Given the description of an element on the screen output the (x, y) to click on. 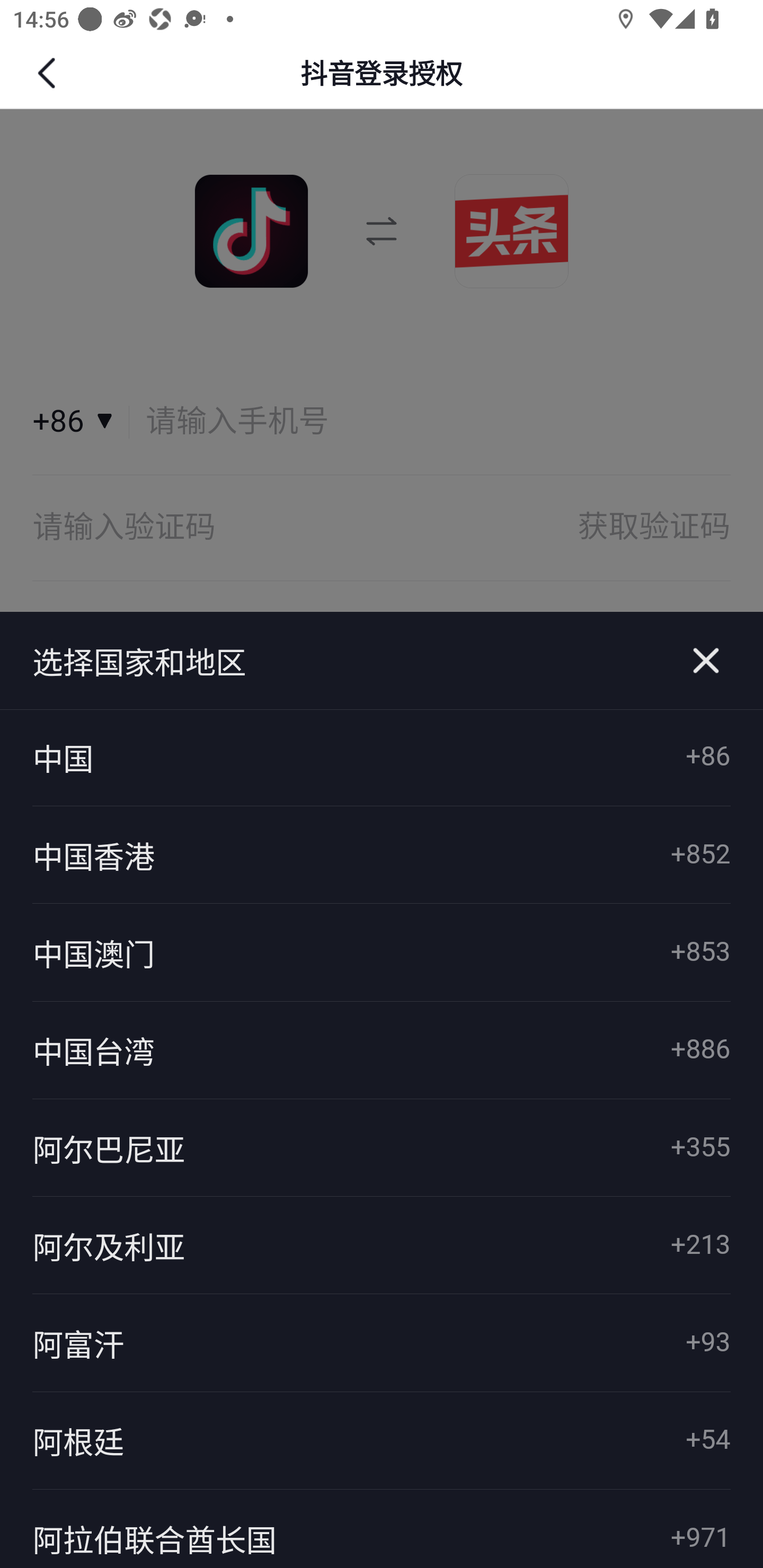
返回 (49, 72)
关闭 (705, 660)
中国+86 (381, 757)
中国香港+852 (381, 854)
中国澳门+853 (381, 952)
中国台湾+886 (381, 1049)
阿尔巴尼亚+355 (381, 1147)
阿尔及利亚+213 (381, 1245)
阿富汗+93 (381, 1343)
阿根廷+54 (381, 1440)
阿拉伯联合酋长国+971 (381, 1528)
